Given the description of an element on the screen output the (x, y) to click on. 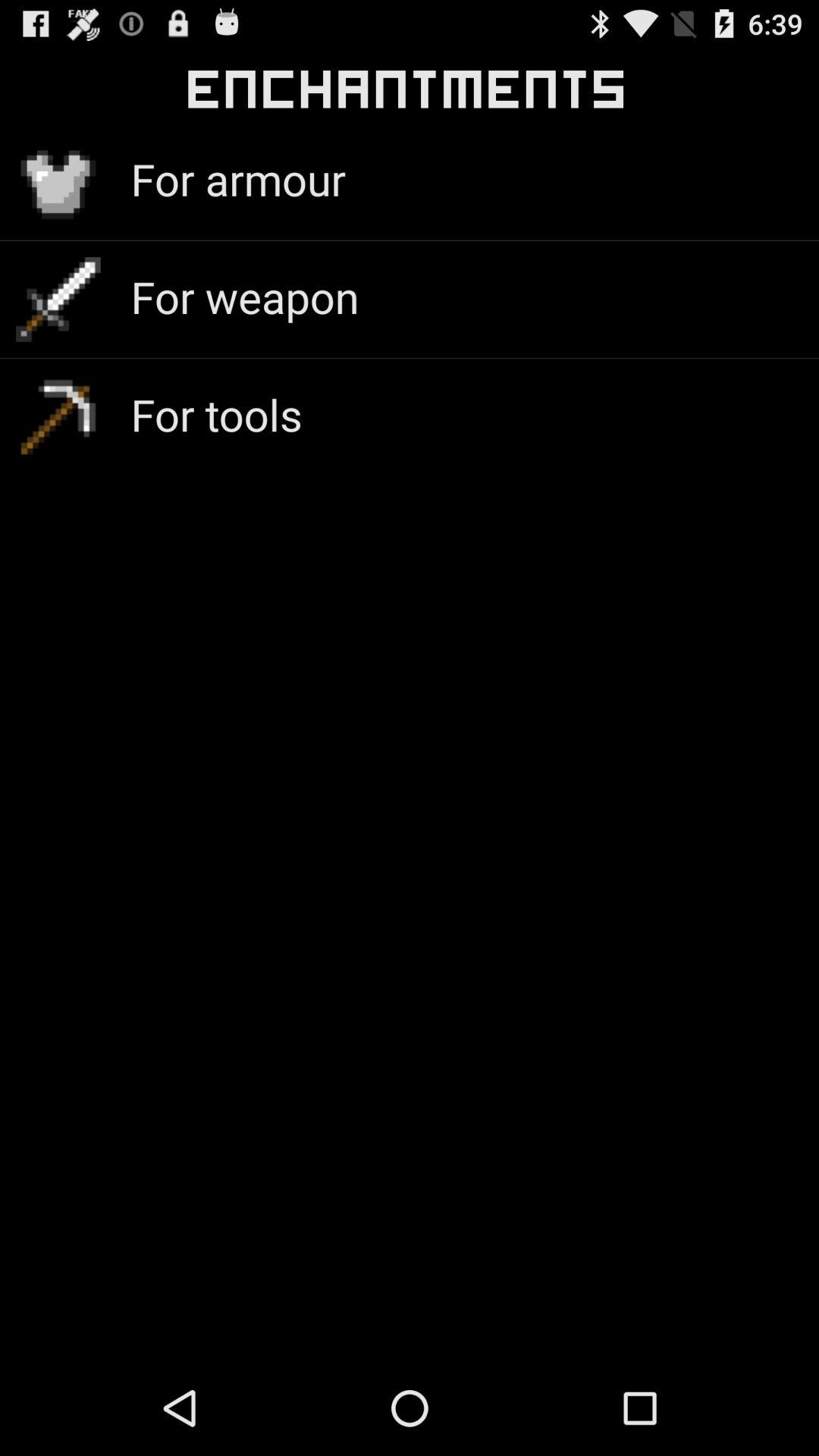
turn on the item below the enchantments icon (237, 178)
